Given the description of an element on the screen output the (x, y) to click on. 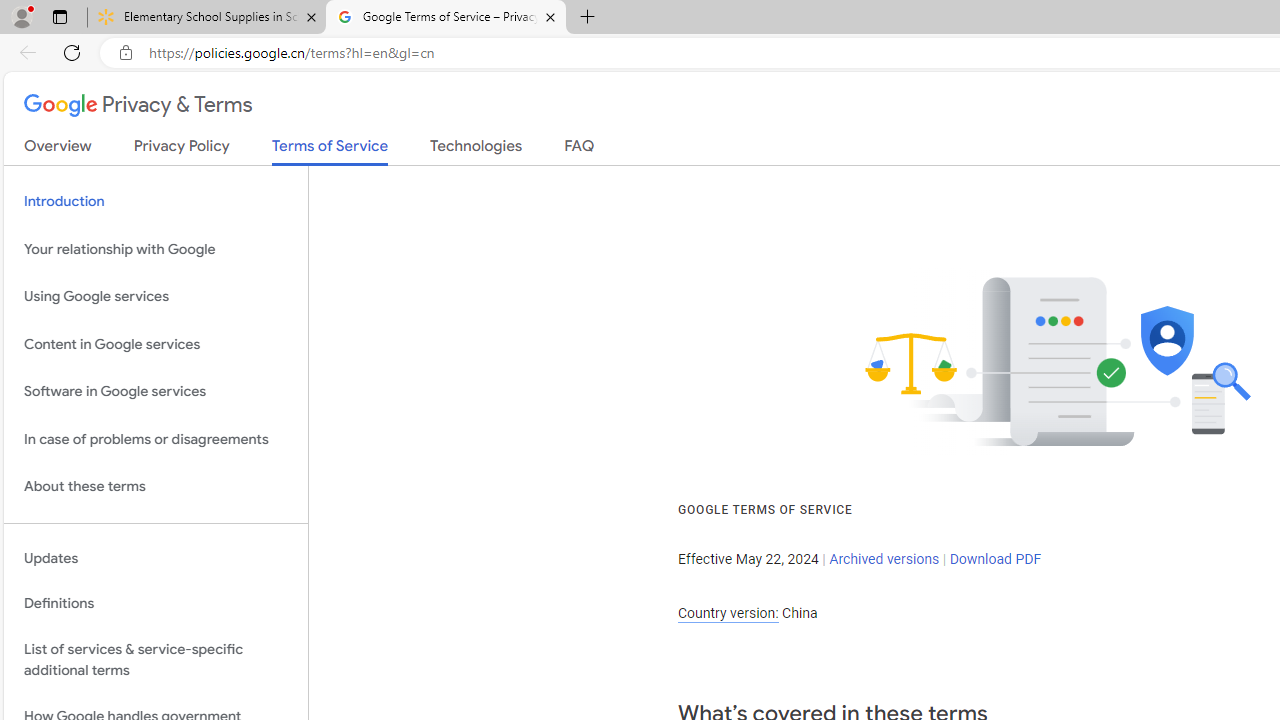
Definitions (155, 604)
Software in Google services (155, 391)
About these terms (155, 486)
Privacy & Terms (138, 106)
Introduction (155, 201)
Content in Google services (155, 343)
Archived versions (884, 559)
Download PDF (994, 559)
List of services & service-specific additional terms (155, 659)
In case of problems or disagreements (155, 438)
